Given the description of an element on the screen output the (x, y) to click on. 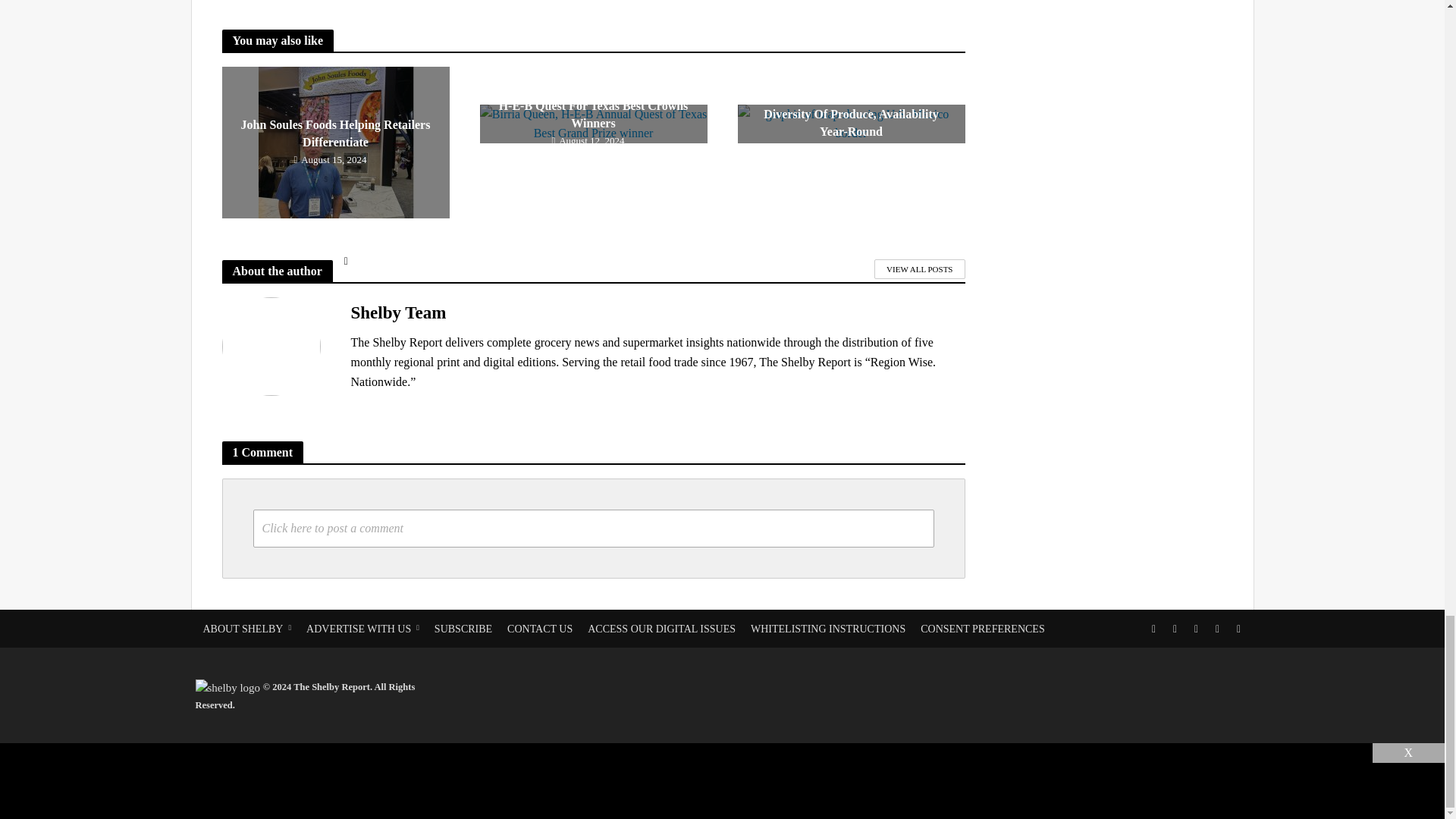
John Soules Foods Helping Retailers Differentiate (334, 142)
H-E-B Quest For Texas Best Crowns Winners (592, 123)
